Given the description of an element on the screen output the (x, y) to click on. 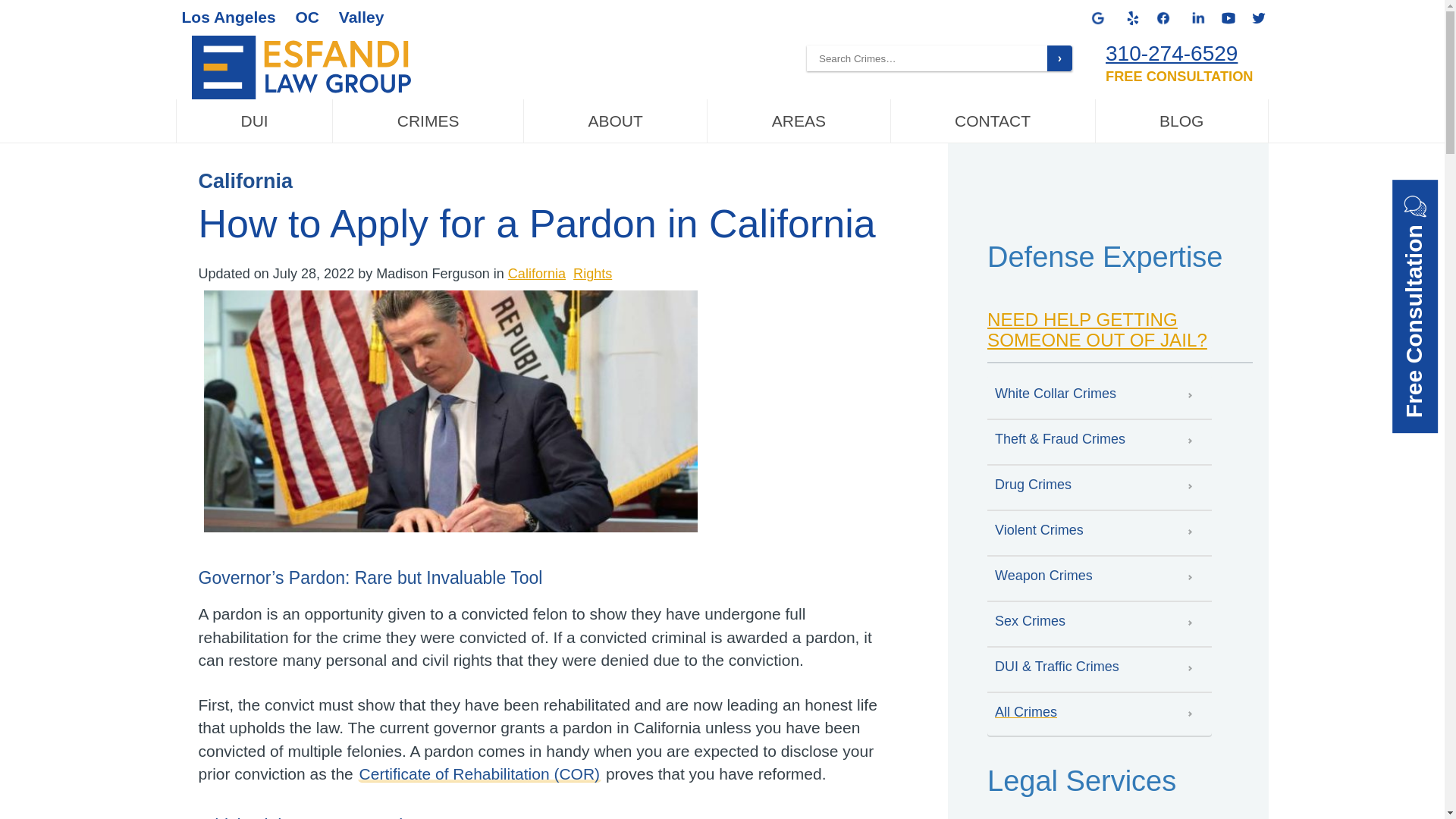
CRIMES (428, 121)
310-274-6529 (1171, 53)
Los Angeles (229, 16)
DUI (254, 121)
Go (1058, 58)
Valley (361, 16)
OC (306, 16)
